Given the description of an element on the screen output the (x, y) to click on. 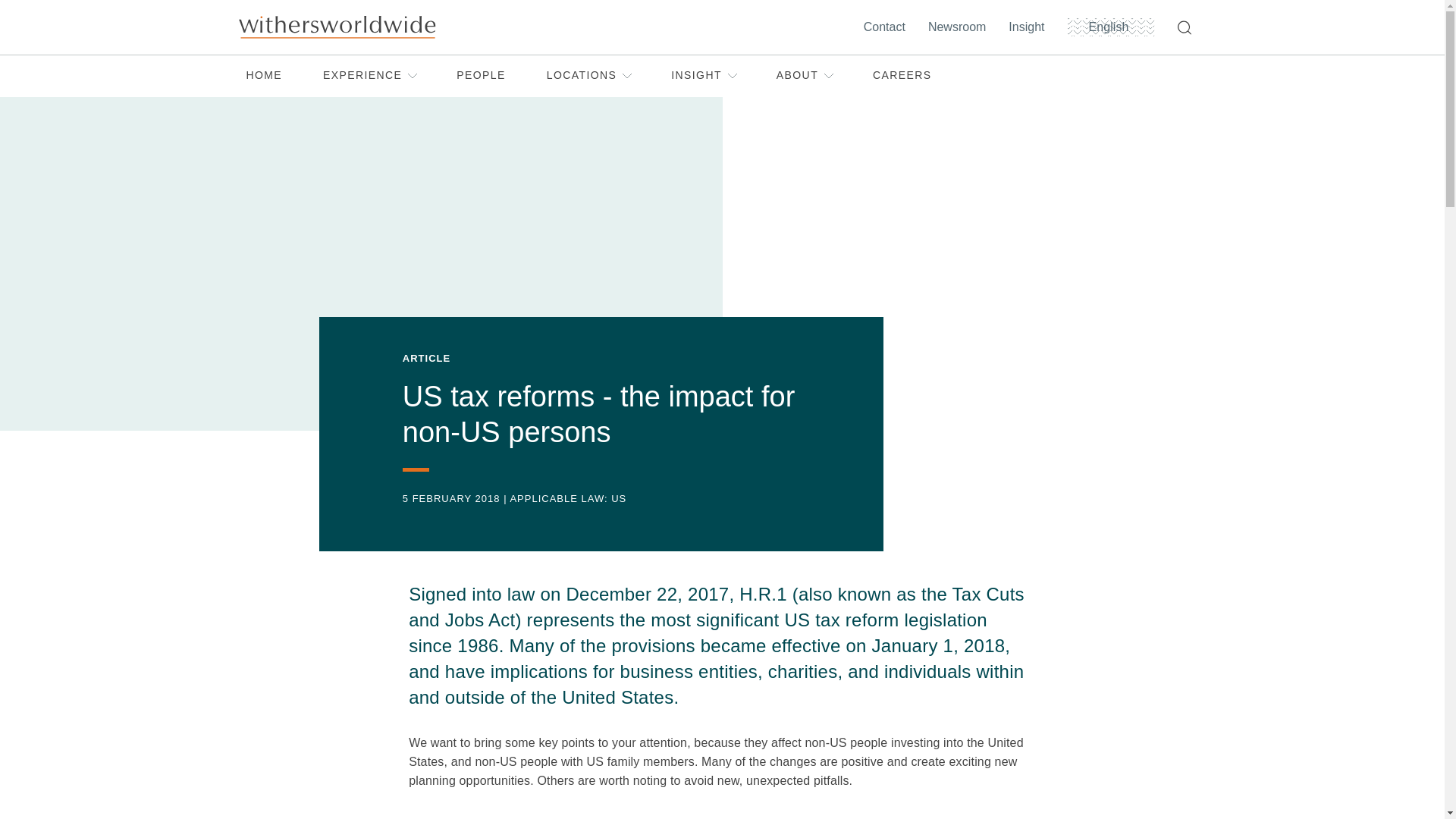
HOME (263, 75)
Home (336, 26)
Newsroom (960, 27)
Contact (888, 27)
Search (1187, 27)
Insight (1030, 27)
